Given the description of an element on the screen output the (x, y) to click on. 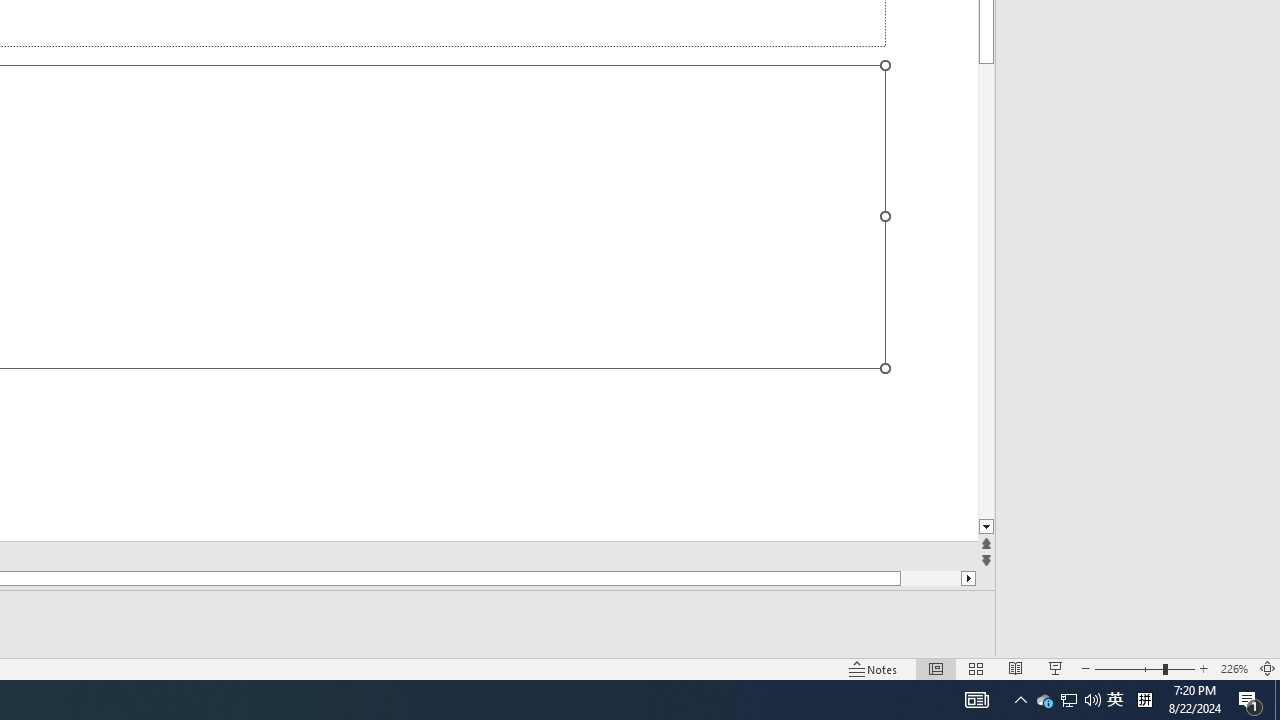
Zoom 226% (1234, 668)
